Given the description of an element on the screen output the (x, y) to click on. 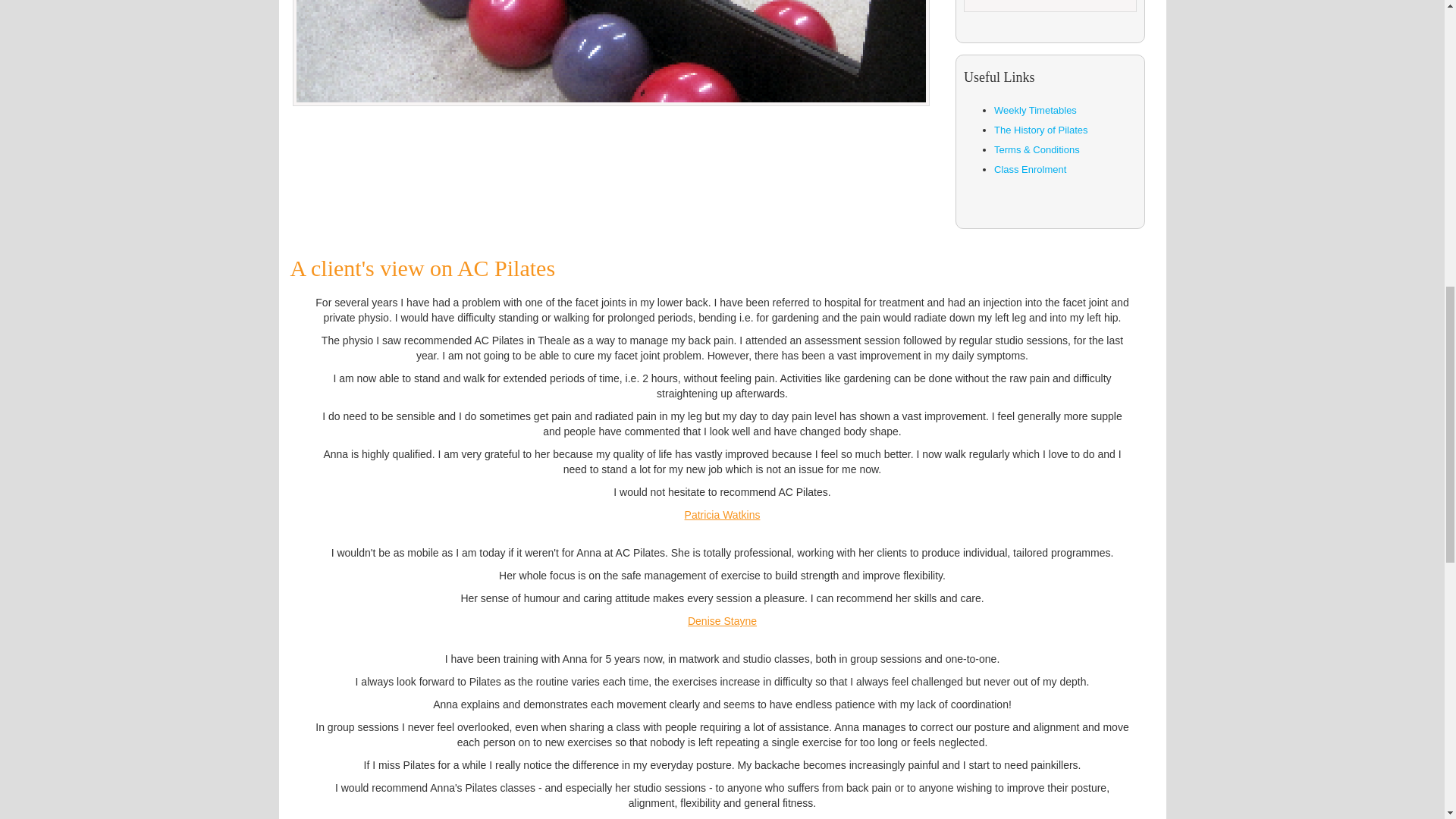
Class Enrolment (1029, 169)
Class Enrolment (1029, 169)
The History of Pilates (1040, 129)
The History of Pilates (1040, 129)
Weekly Timetables (1035, 110)
Well, we just like it! (1050, 6)
Weekly Timetables (1035, 110)
